Given the description of an element on the screen output the (x, y) to click on. 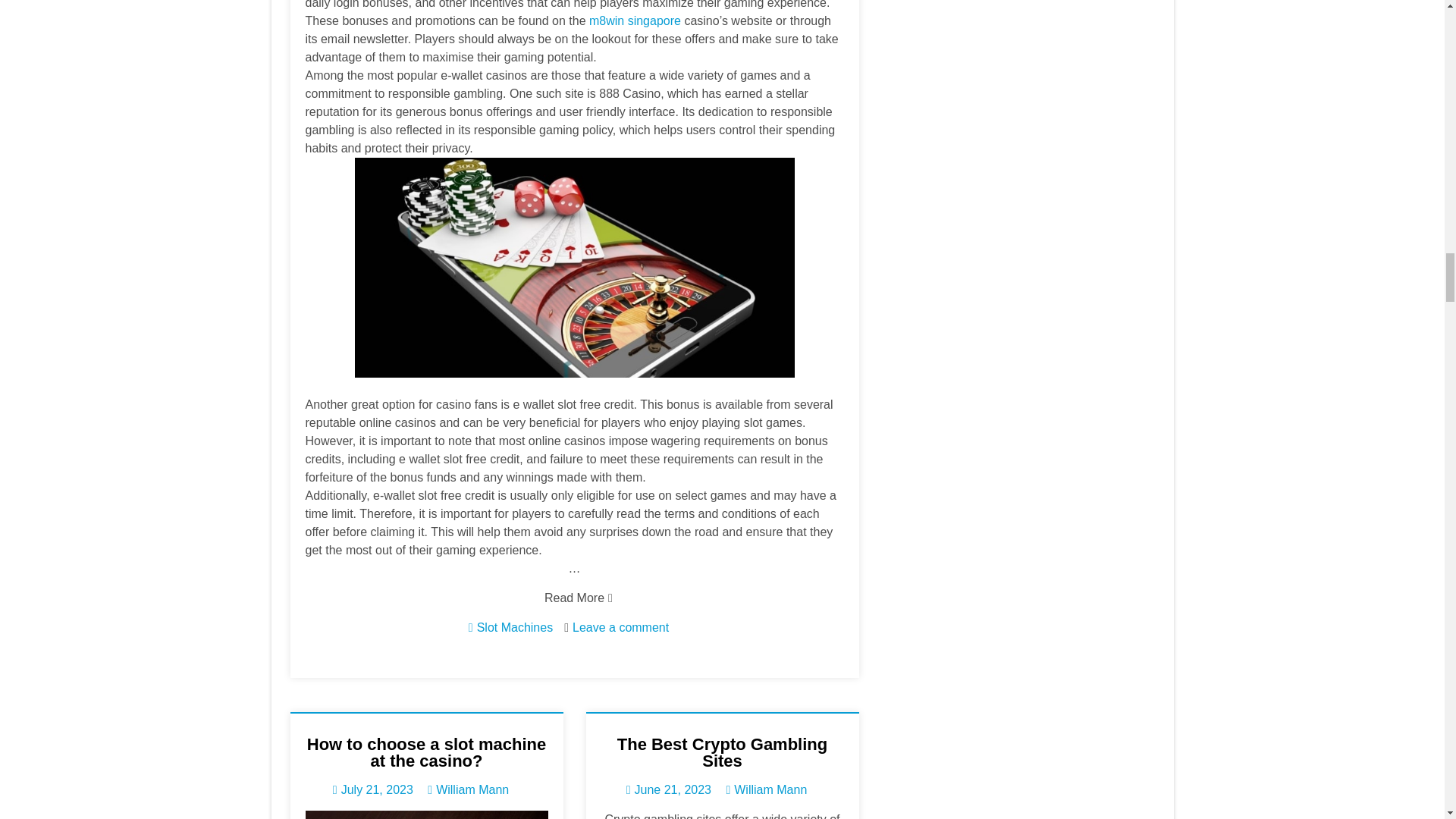
m8win singapore (635, 20)
How to choose a slot machine at the casino? (426, 752)
July 21, 2023 (373, 789)
William Mann (471, 789)
Leave a comment (620, 626)
Slot Machines (515, 626)
Read More (574, 597)
